Given the description of an element on the screen output the (x, y) to click on. 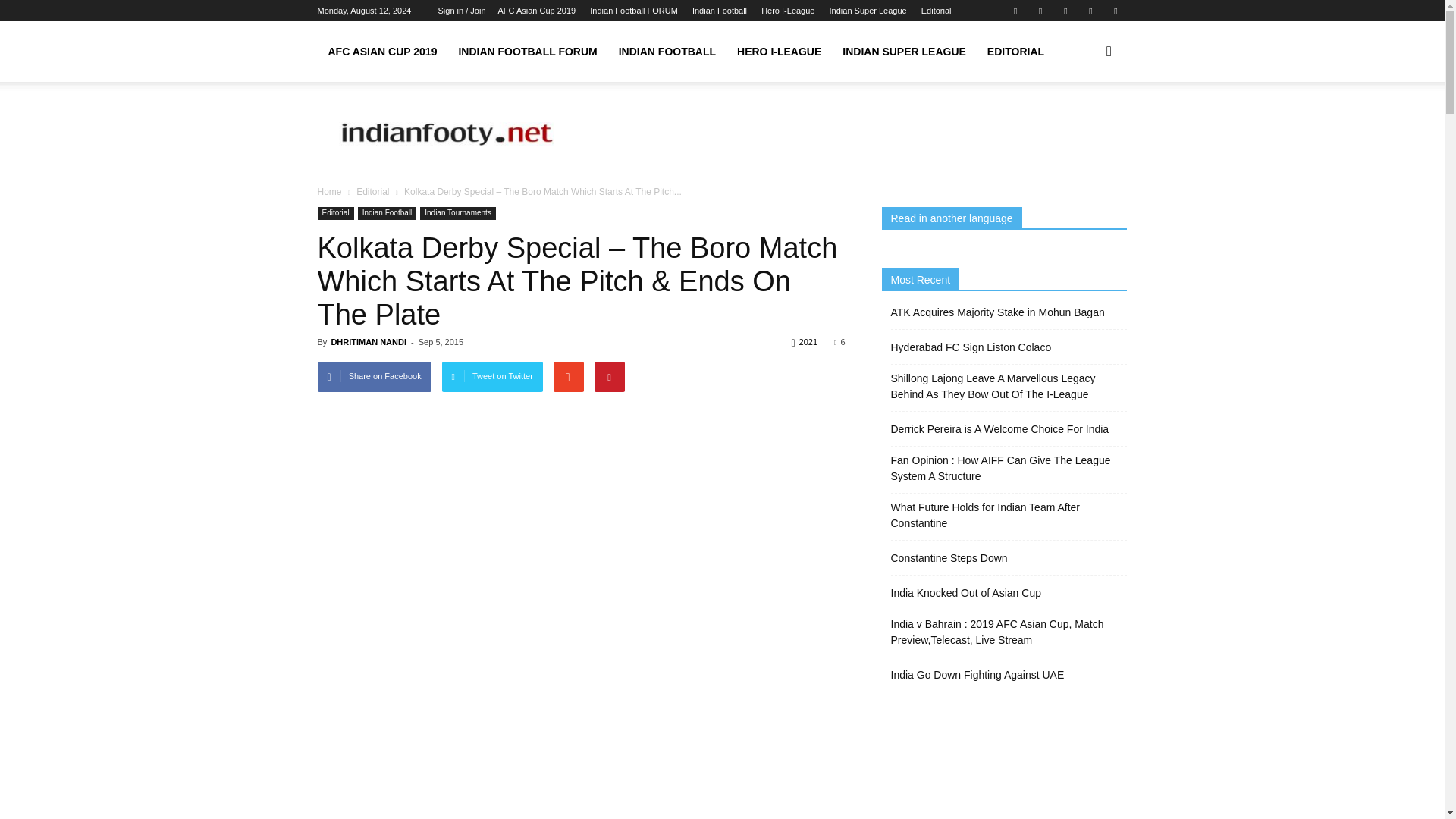
Hero I-League (787, 10)
AFC Asian Cup 2019 (536, 10)
Indian Football (719, 10)
Indian Football FORUM (633, 10)
Indian Super League (868, 10)
